Given the description of an element on the screen output the (x, y) to click on. 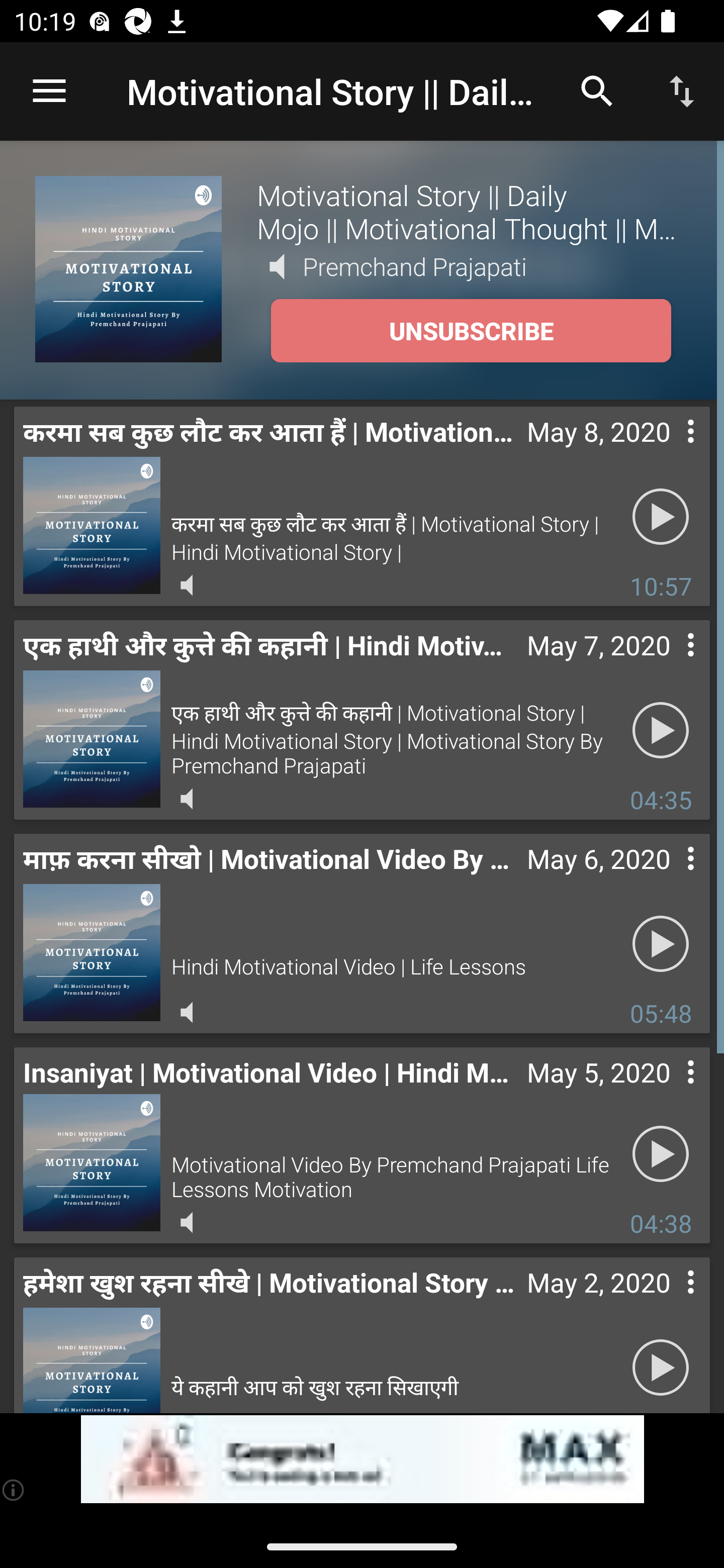
Open navigation sidebar (49, 91)
Search (597, 90)
Sort (681, 90)
UNSUBSCRIBE (470, 330)
Contextual menu (668, 451)
Play (660, 516)
Contextual menu (668, 665)
Play (660, 729)
Contextual menu (668, 878)
Play (660, 943)
Contextual menu (668, 1091)
Play (660, 1152)
Contextual menu (668, 1301)
Play (660, 1365)
app-monetization (362, 1459)
(i) (14, 1489)
